Given the description of an element on the screen output the (x, y) to click on. 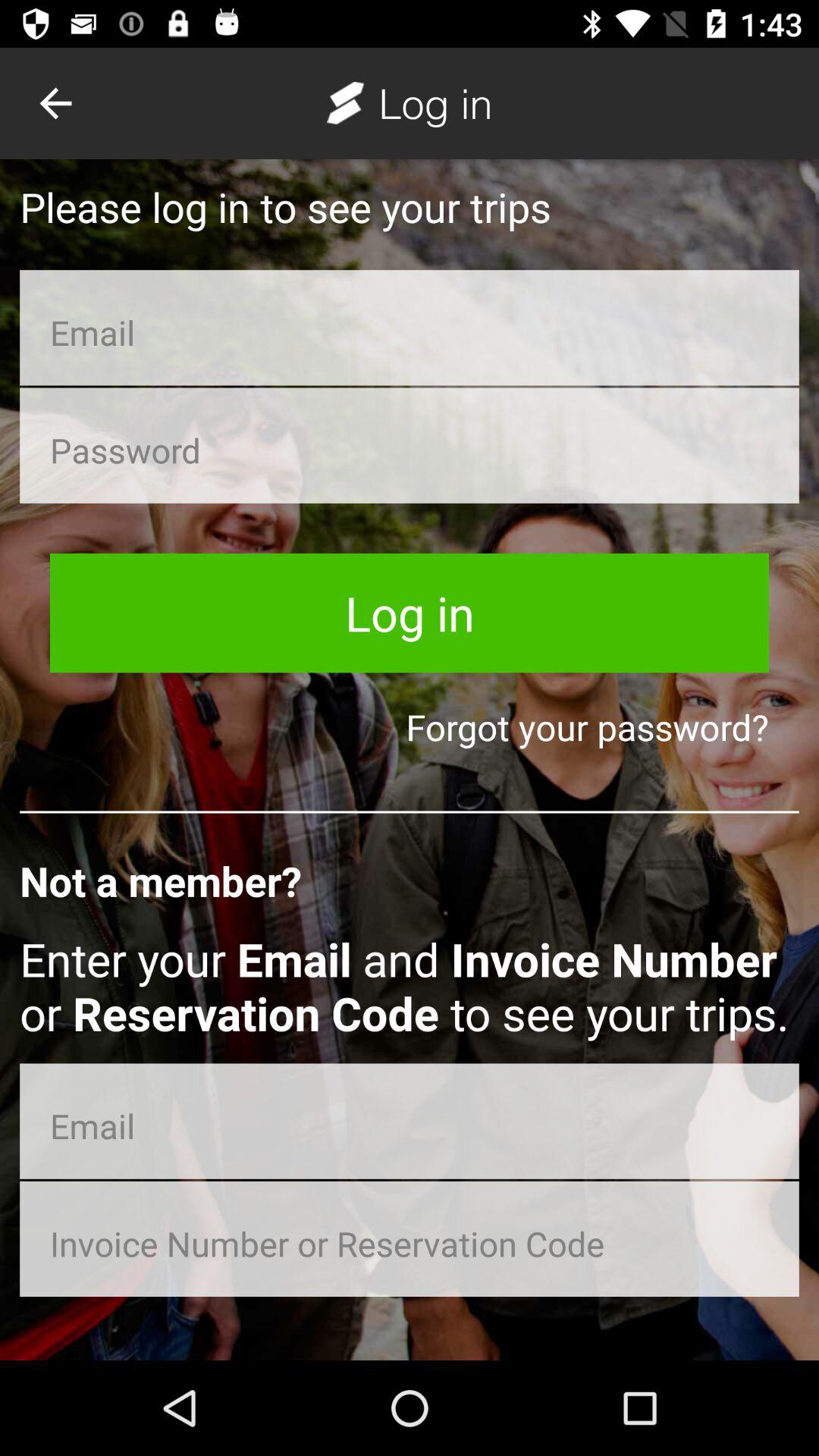
input email (409, 1121)
